Given the description of an element on the screen output the (x, y) to click on. 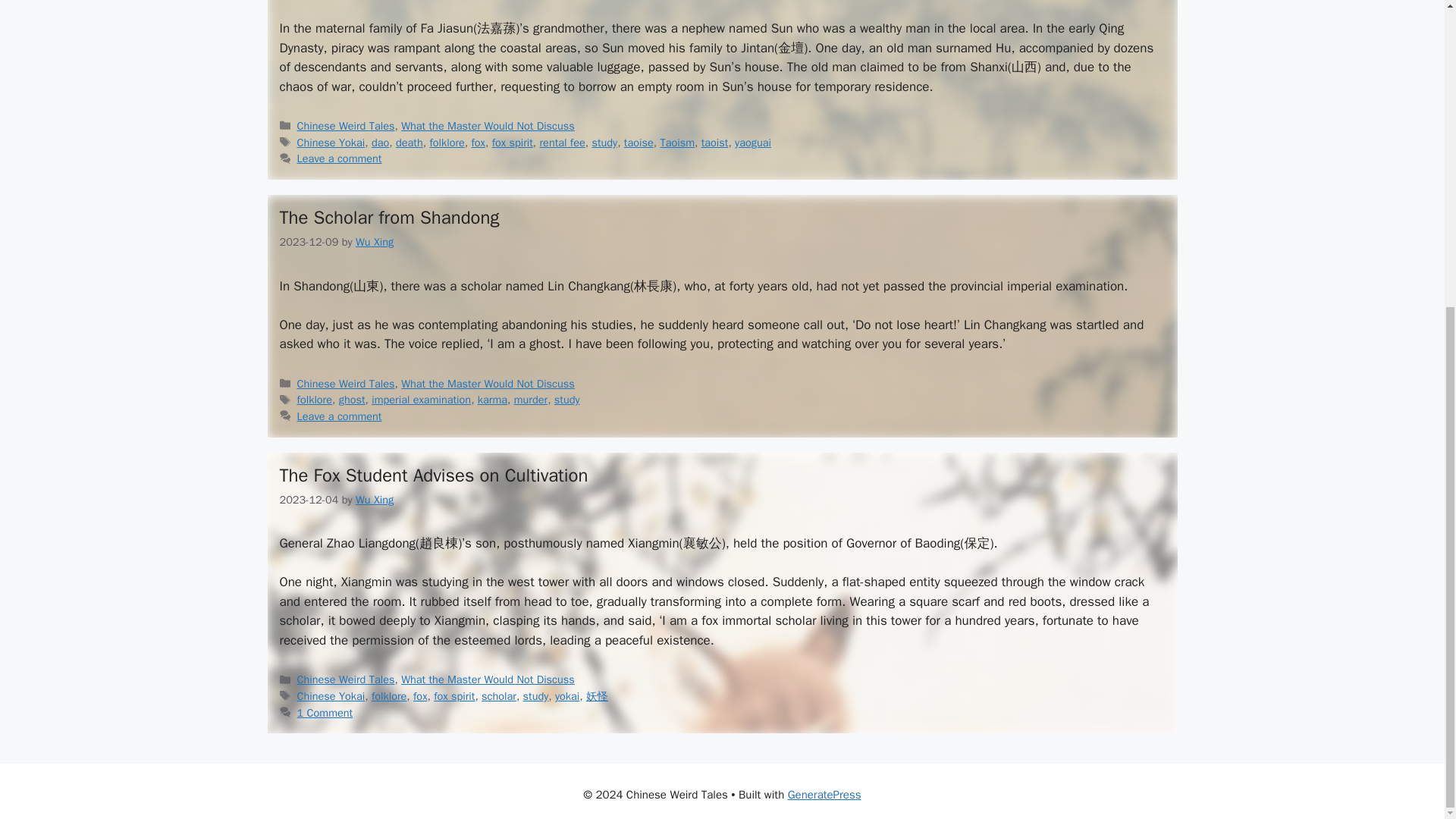
death (409, 142)
dao (379, 142)
folklore (446, 142)
View all posts by Wu Xing (374, 241)
rental fee (562, 142)
fox spirit (512, 142)
Chinese Yokai (331, 142)
fox (477, 142)
Chinese Weird Tales (345, 125)
What the Master Would Not Discuss (488, 125)
View all posts by Wu Xing (374, 499)
